Given the description of an element on the screen output the (x, y) to click on. 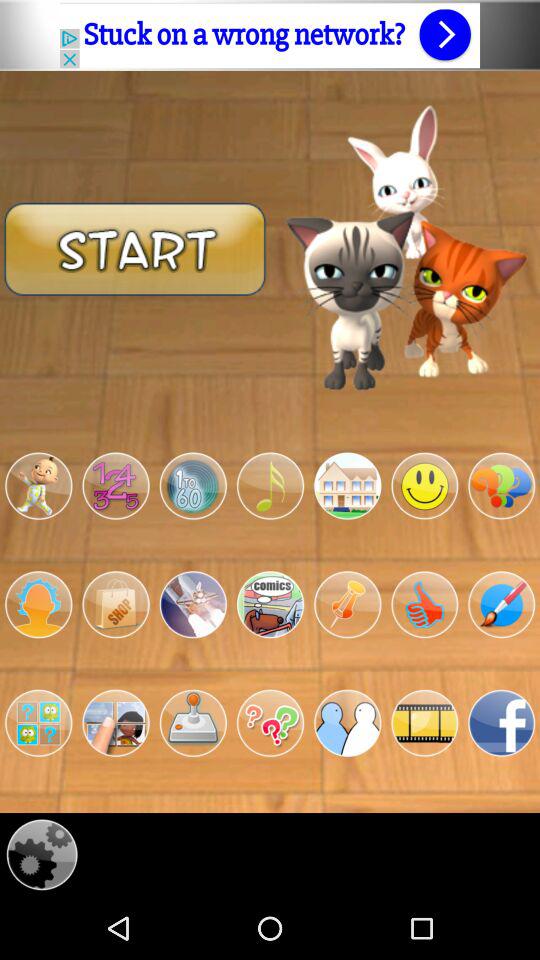
toggle application (347, 723)
